Given the description of an element on the screen output the (x, y) to click on. 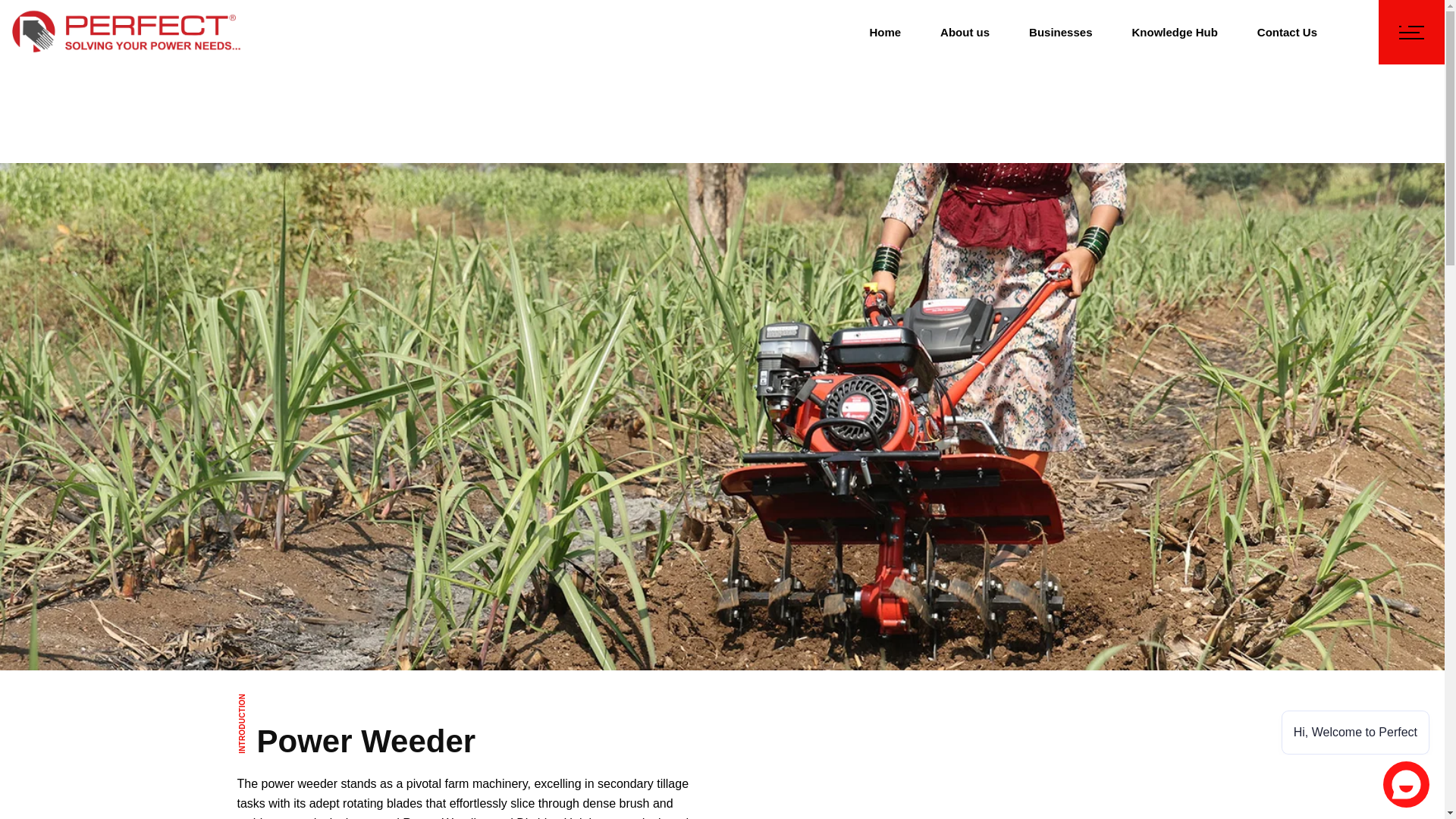
Businesses (1060, 32)
Contact Us (1287, 32)
Knowledge Hub (1174, 32)
